Given the description of an element on the screen output the (x, y) to click on. 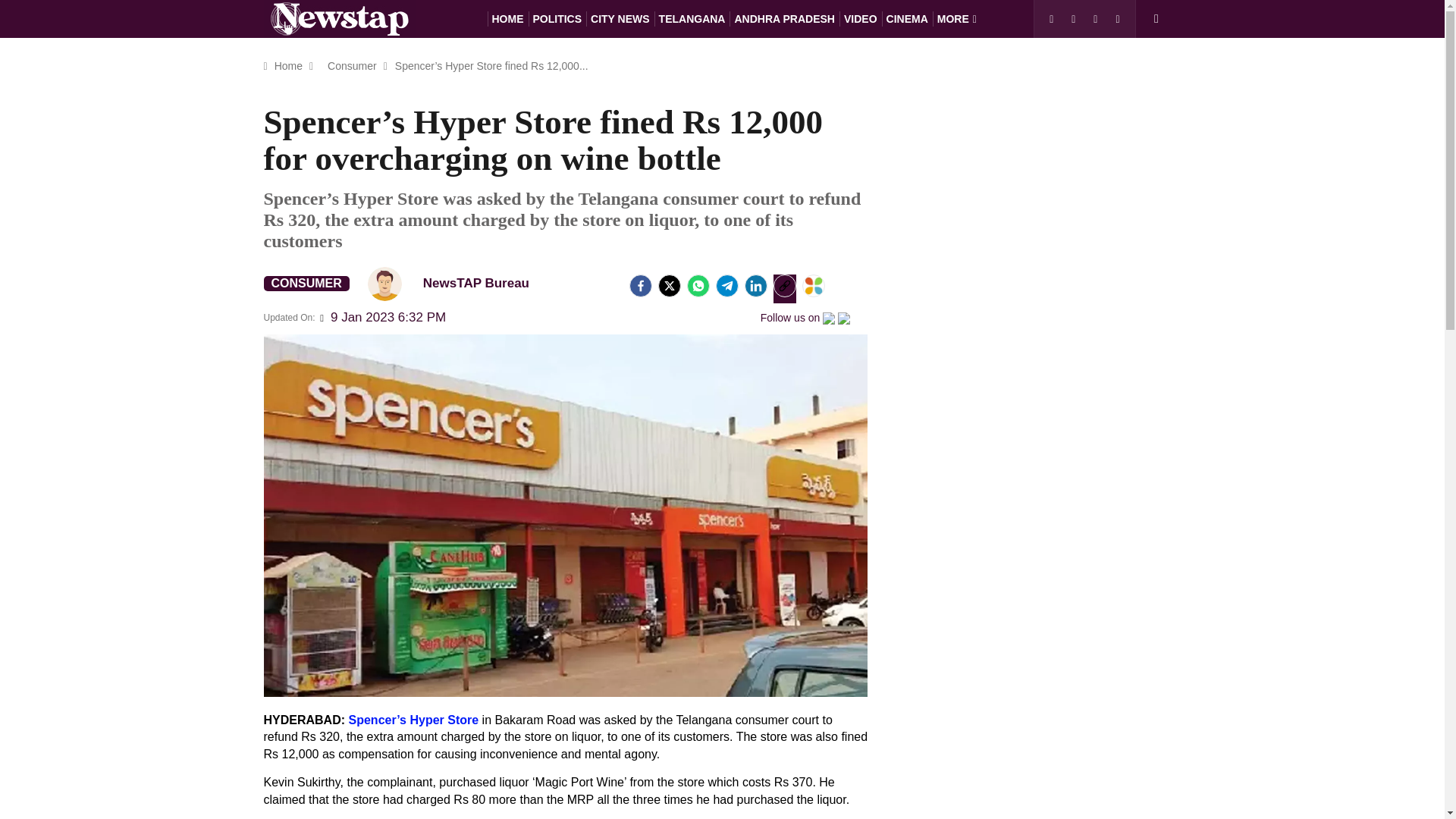
CITY NEWS (619, 18)
NewsTAP Bureau (384, 283)
NewsTAP Bureau (455, 282)
POLITICS (556, 18)
LinkedIn (755, 285)
Home (287, 65)
Advertisement (1050, 214)
HOME (506, 18)
TELANGANA (691, 18)
CINEMA (907, 18)
MORE (957, 18)
Advertisement (1050, 662)
CONSUMER (306, 283)
Advertisement (1050, 427)
Consumer (352, 65)
